Given the description of an element on the screen output the (x, y) to click on. 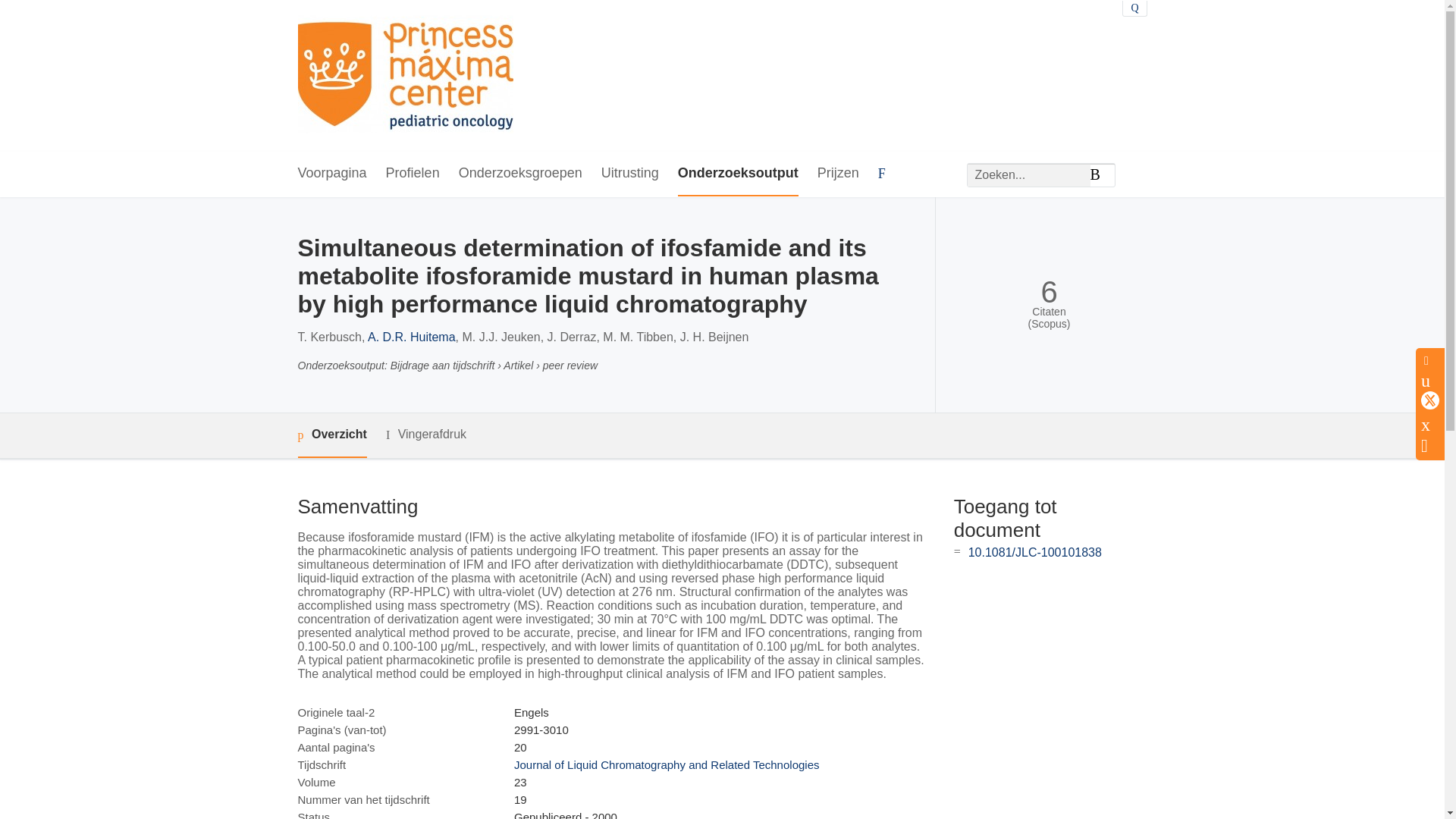
Vingerafdruk (425, 434)
Journal of Liquid Chromatography and Related Technologies (666, 764)
Uitrusting (630, 173)
Voorpagina (331, 173)
Onderzoeksgroepen (520, 173)
A. D.R. Huitema (411, 336)
Profielen (412, 173)
Prijzen (837, 173)
Overzicht (331, 435)
Onderzoeksoutput (737, 173)
